Given the description of an element on the screen output the (x, y) to click on. 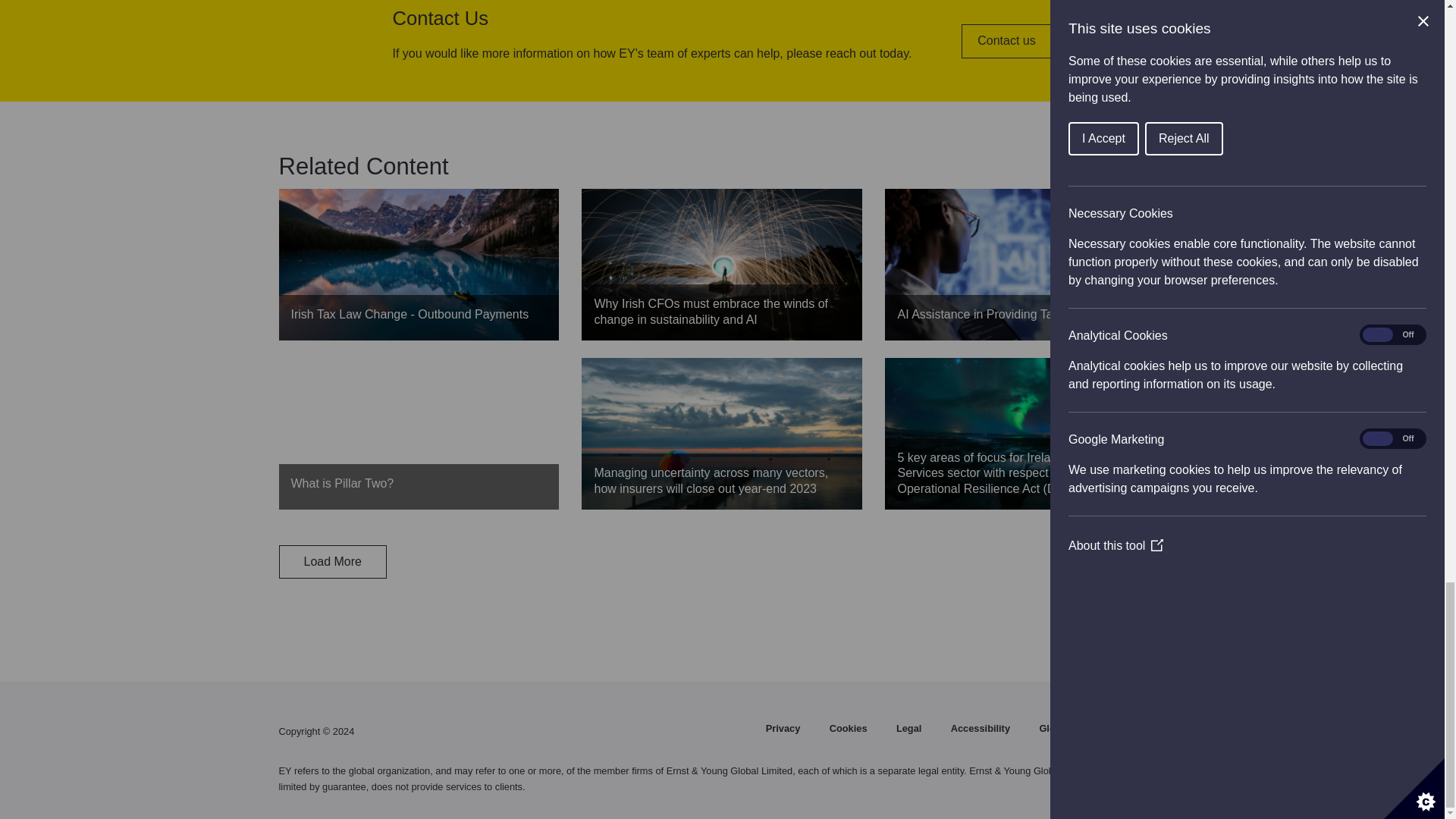
Load more (333, 561)
